Given the description of an element on the screen output the (x, y) to click on. 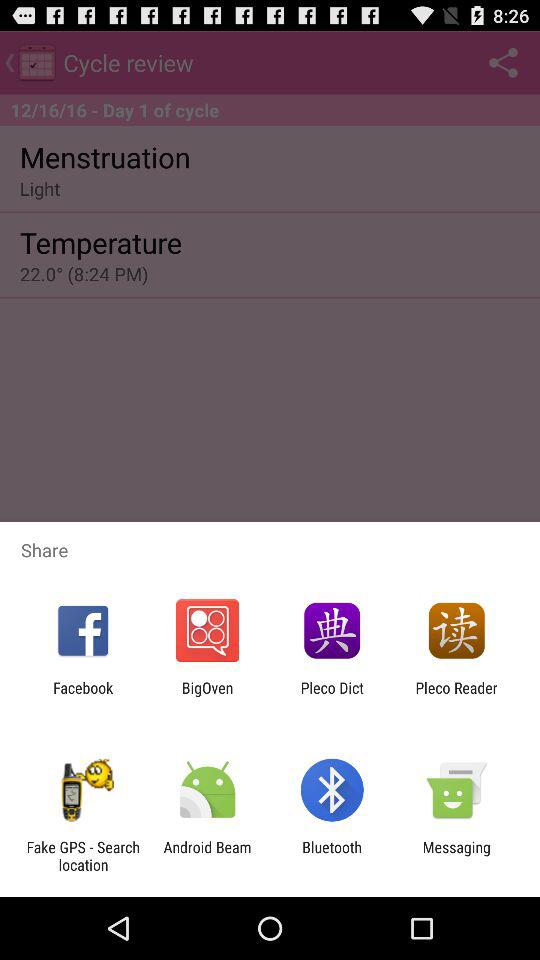
choose item next to bigoven (83, 696)
